Given the description of an element on the screen output the (x, y) to click on. 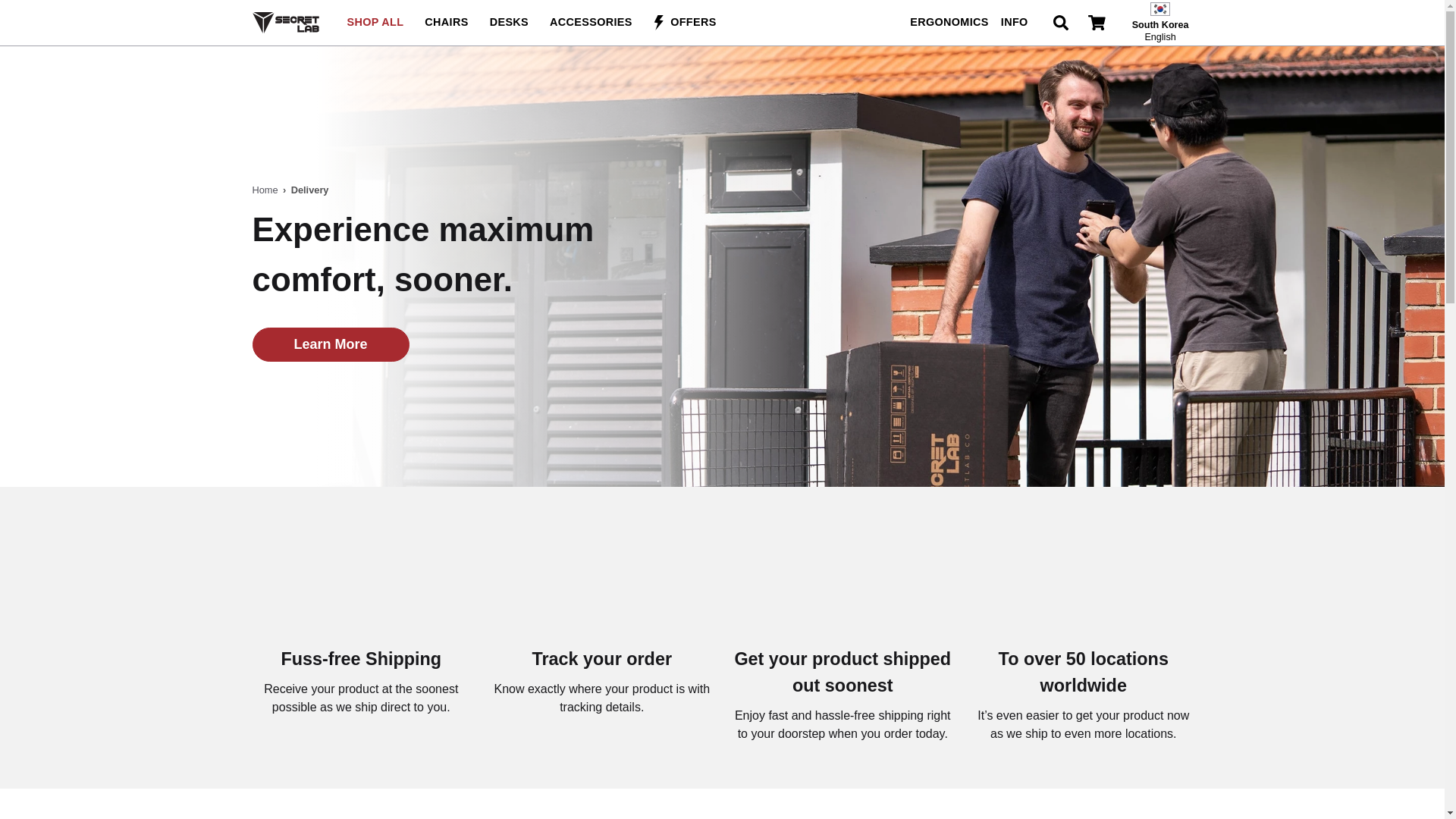
Home (1160, 22)
SHOP ALL (264, 189)
DESKS (375, 22)
CHAIRS (508, 22)
Learn More (445, 22)
